Given the description of an element on the screen output the (x, y) to click on. 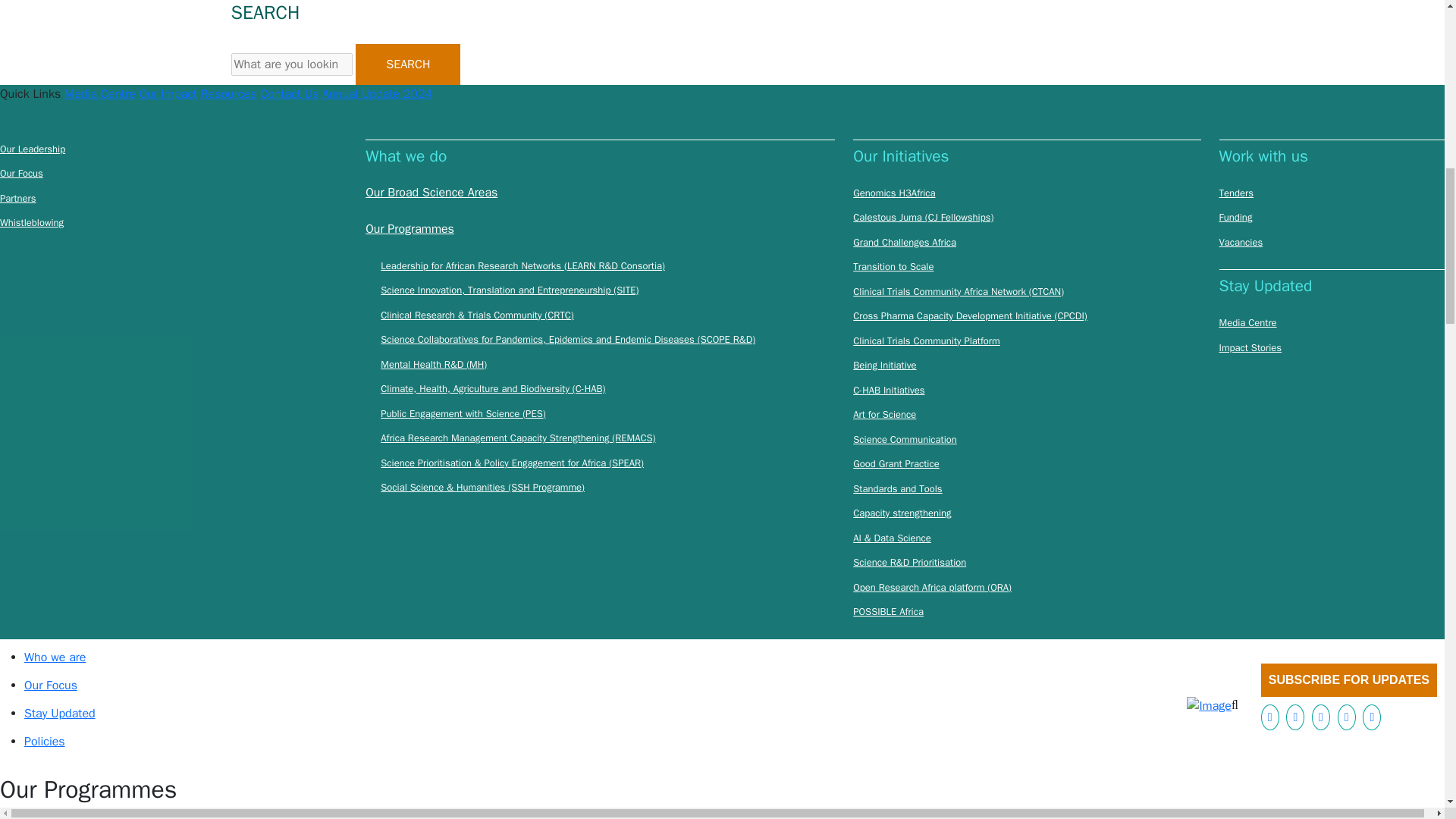
Our Leadership (32, 149)
Our Programmes (409, 228)
Partners (18, 198)
Standards and Tools (897, 488)
Clinical Trials Community Platform (925, 340)
Being Initiative (884, 365)
Art for Science (884, 414)
Our Impact (167, 93)
SEARCH (407, 64)
Our Broad Science Areas (431, 192)
Science Communication (904, 439)
C-HAB Initiatives (888, 390)
Grand Challenges Africa (904, 242)
Genomics H3Africa (893, 192)
Good Grant Practice (896, 463)
